Given the description of an element on the screen output the (x, y) to click on. 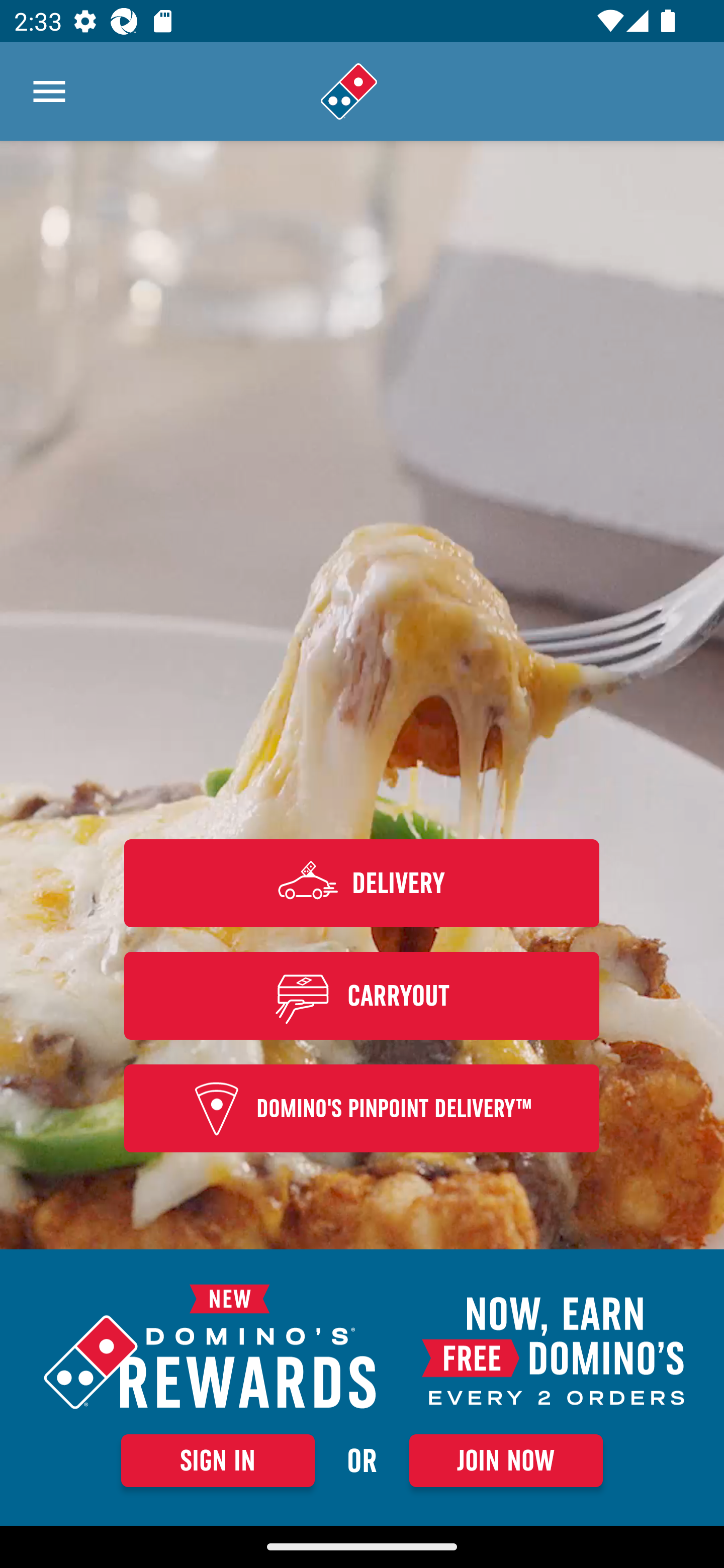
Expand Menu (49, 91)
DELIVERY (361, 882)
CARRYOUT (361, 995)
DOMINO'S PINPOINT DELIVERY™ (361, 1108)
SIGN IN (217, 1460)
JOIN NOW (506, 1460)
